Given the description of an element on the screen output the (x, y) to click on. 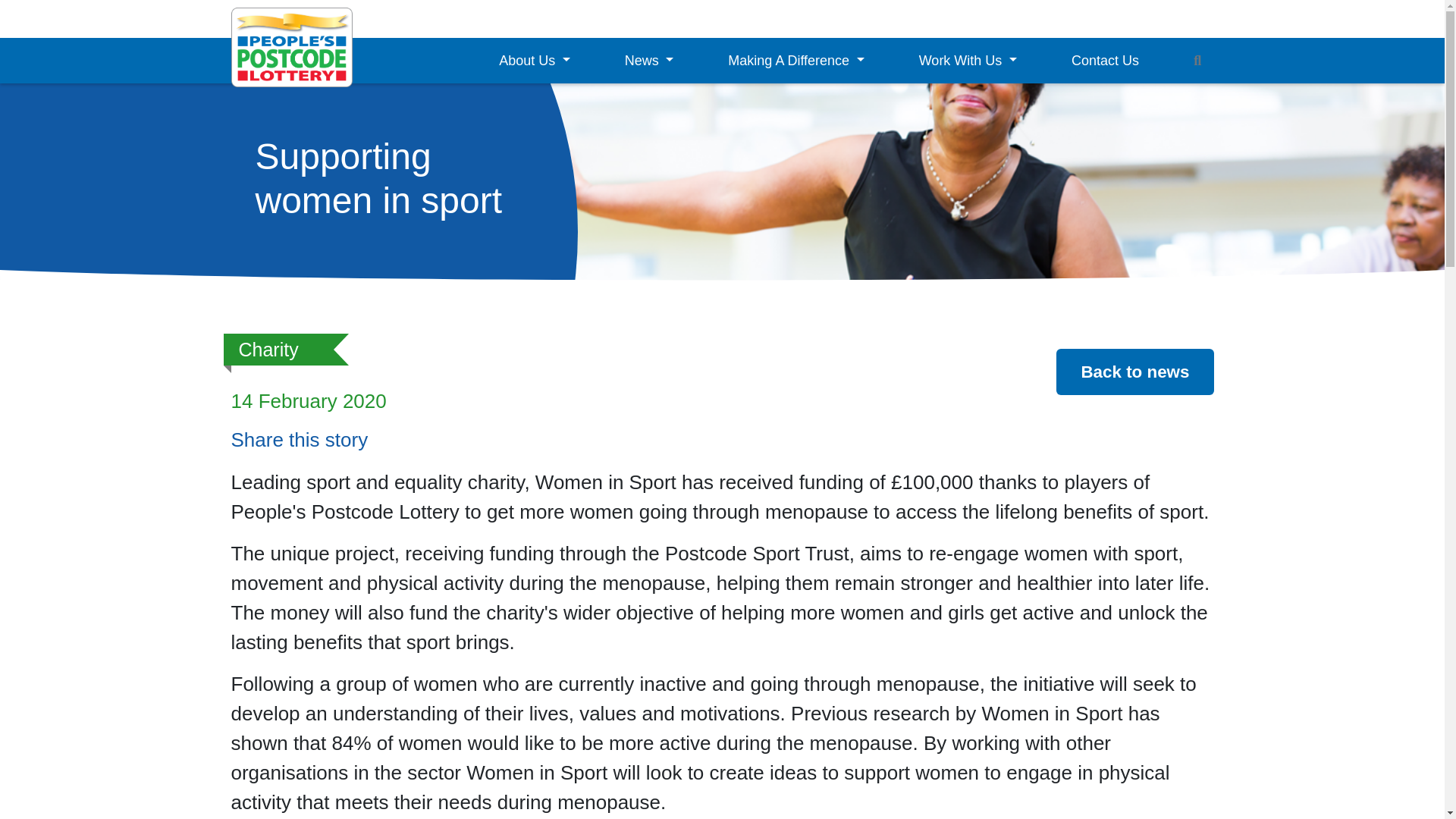
Making A Difference (796, 60)
News (648, 60)
About Us (534, 60)
Work With Us (968, 60)
Go to About Us (534, 60)
Contact Us (1105, 60)
Return to the homepage (291, 46)
